Given the description of an element on the screen output the (x, y) to click on. 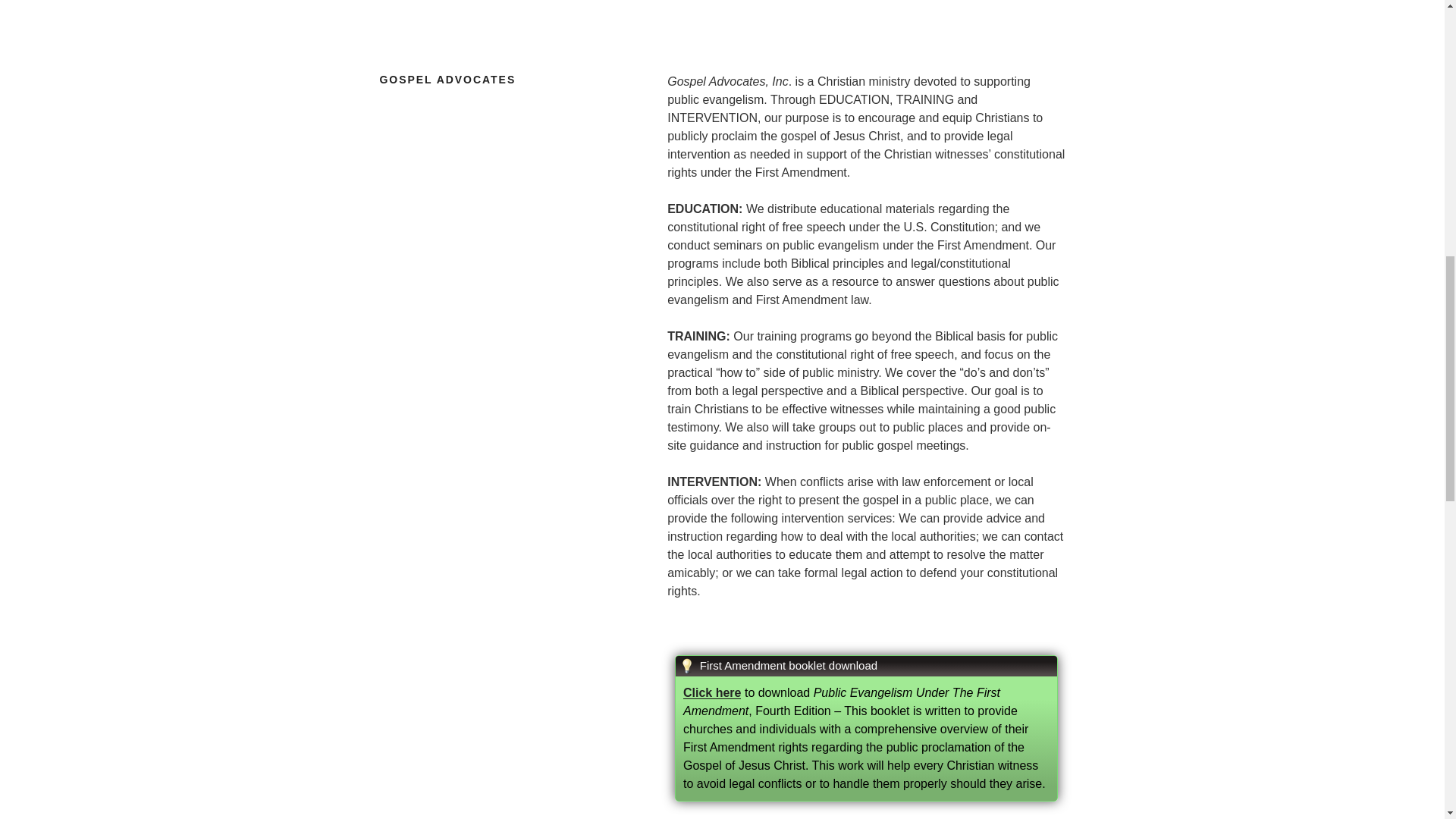
Click here (711, 692)
